Given the description of an element on the screen output the (x, y) to click on. 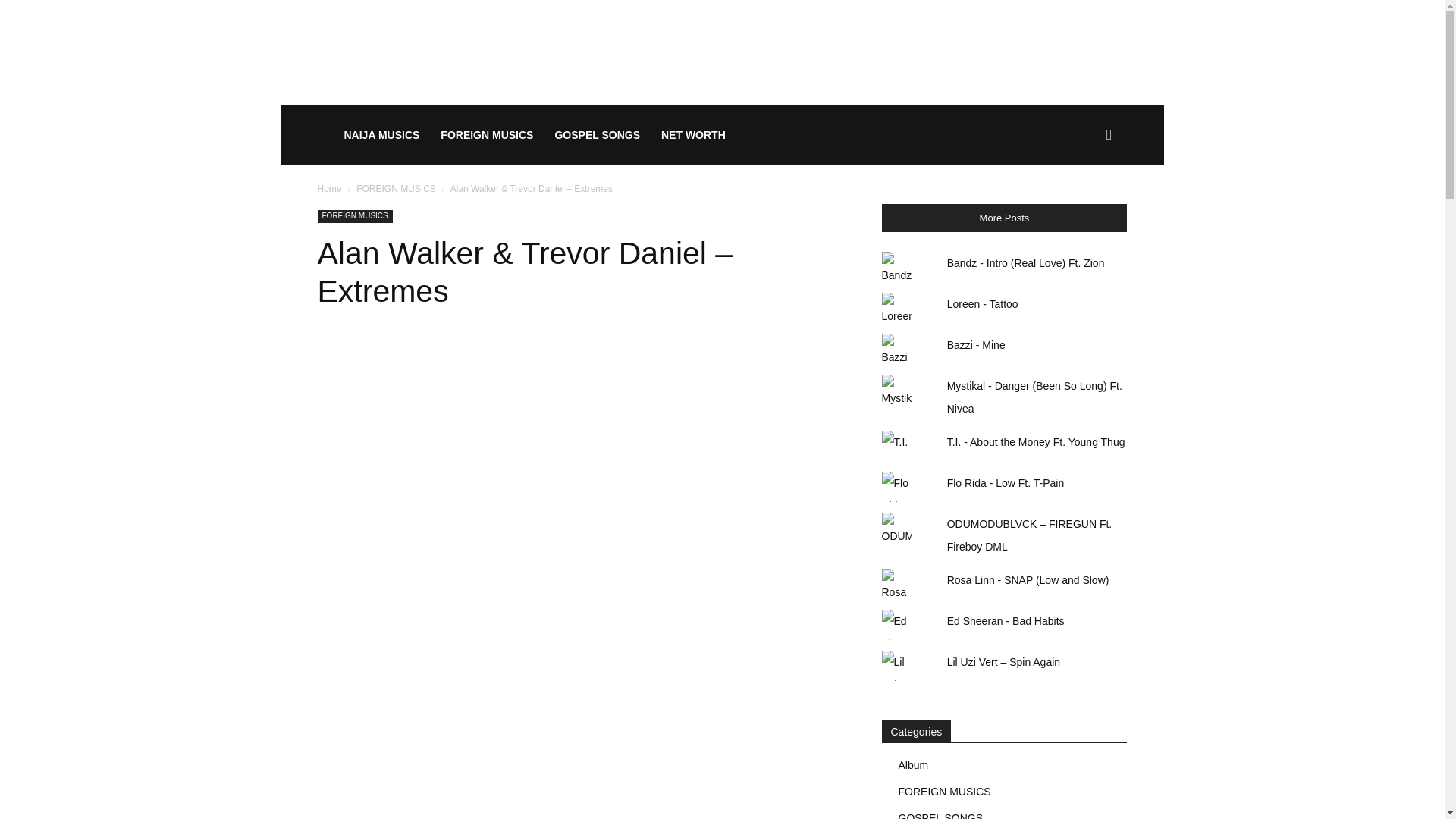
Search (1085, 207)
View all posts in FOREIGN MUSICS (395, 188)
Home (328, 188)
FOREIGN MUSICS (354, 215)
FOREIGN MUSICS (486, 134)
NAIJA MUSICS (381, 134)
GOSPEL SONGS (596, 134)
FOREIGN MUSICS (395, 188)
NET WORTH (693, 134)
